Given the description of an element on the screen output the (x, y) to click on. 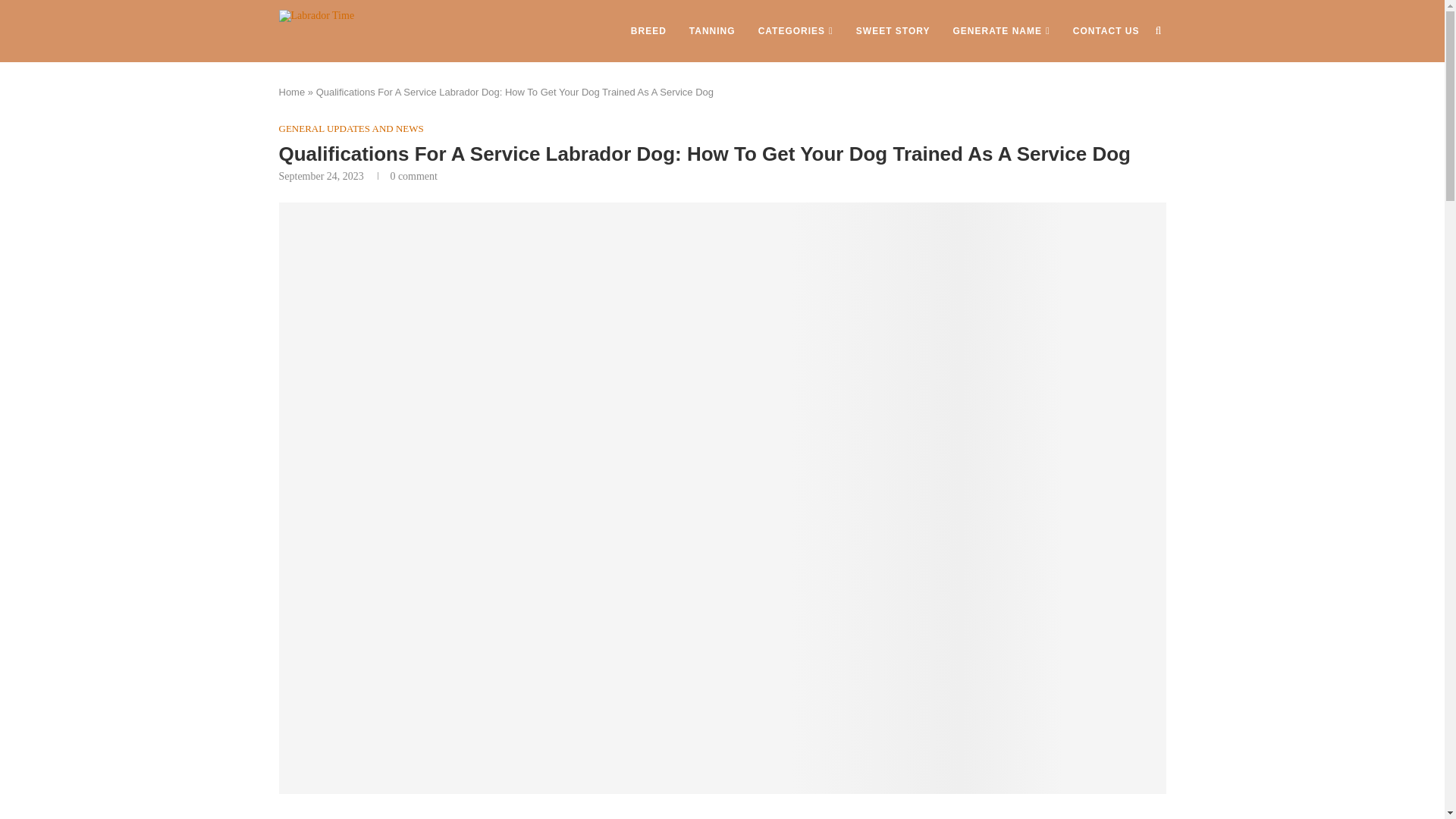
CONTACT US (1106, 30)
SWEET STORY (893, 30)
CATEGORIES (795, 30)
GENERATE NAME (1001, 30)
GENERAL UPDATES AND NEWS (351, 128)
Home (292, 91)
